Given the description of an element on the screen output the (x, y) to click on. 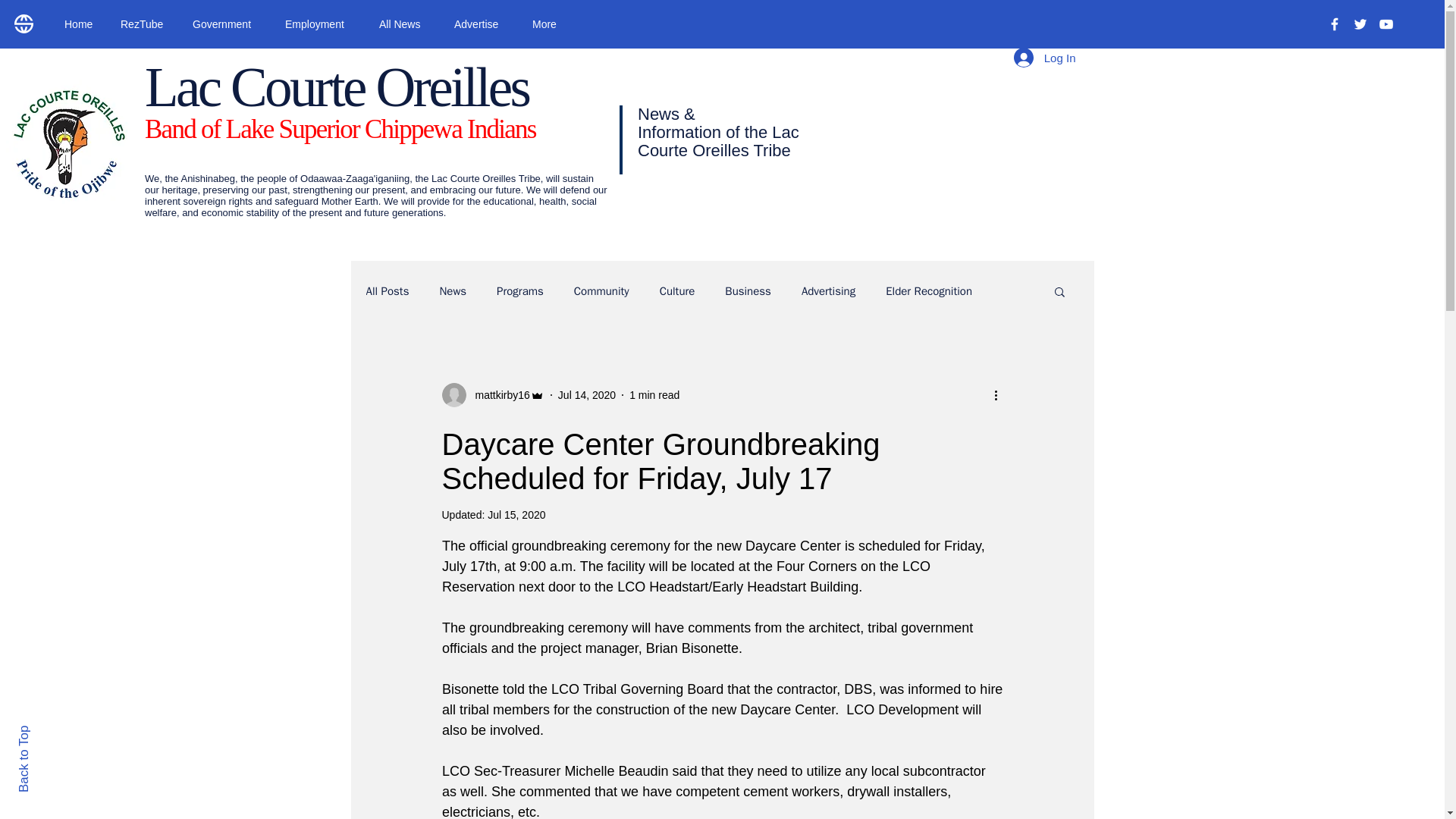
Log In (1044, 57)
Jul 14, 2020 (586, 394)
Home (80, 24)
All Posts (387, 290)
mattkirby16 (497, 394)
All News (405, 24)
News (452, 290)
1 min read (653, 394)
Advertise (481, 24)
Government (226, 24)
RezTube (144, 24)
Jul 15, 2020 (515, 514)
Lac Courte Oreilles (336, 86)
Employment (320, 24)
